Given the description of an element on the screen output the (x, y) to click on. 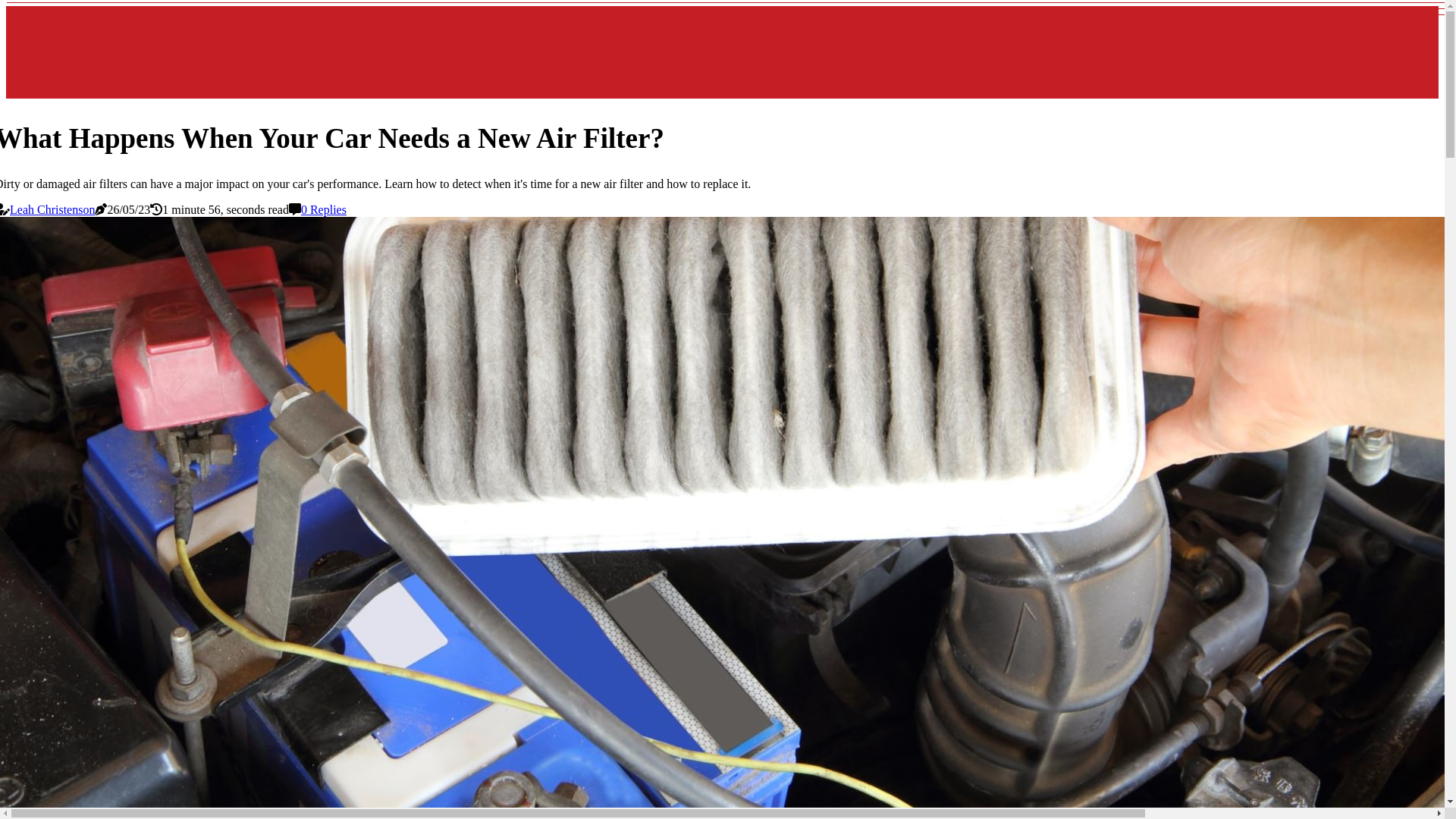
0 Replies Element type: text (323, 209)
Leah Christenson Element type: text (51, 209)
